Given the description of an element on the screen output the (x, y) to click on. 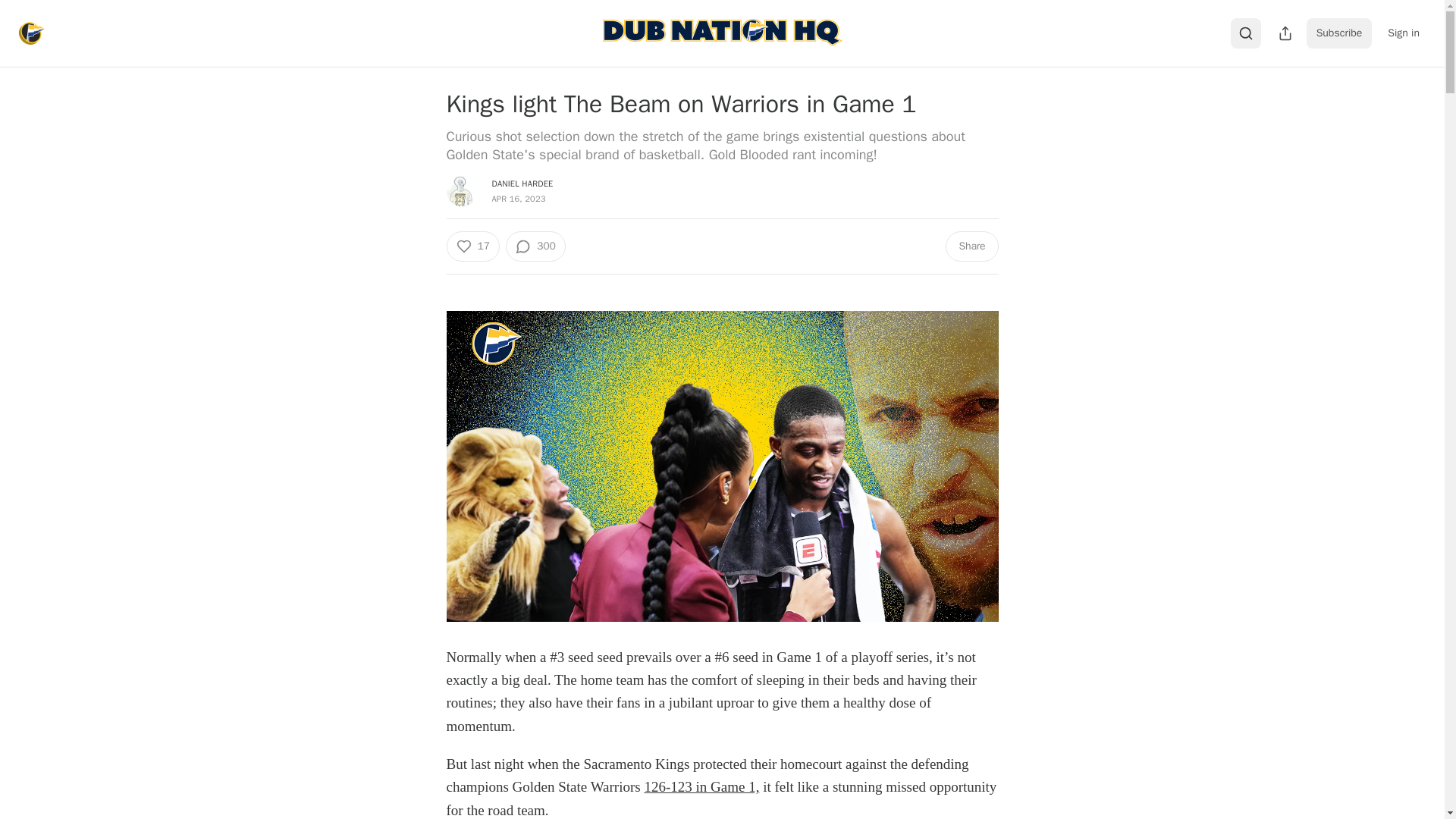
17 (472, 245)
300 (535, 245)
Share (970, 245)
Subscribe (1339, 33)
DANIEL HARDEE (522, 183)
126-123 in Game 1, (700, 786)
Sign in (1403, 33)
